Given the description of an element on the screen output the (x, y) to click on. 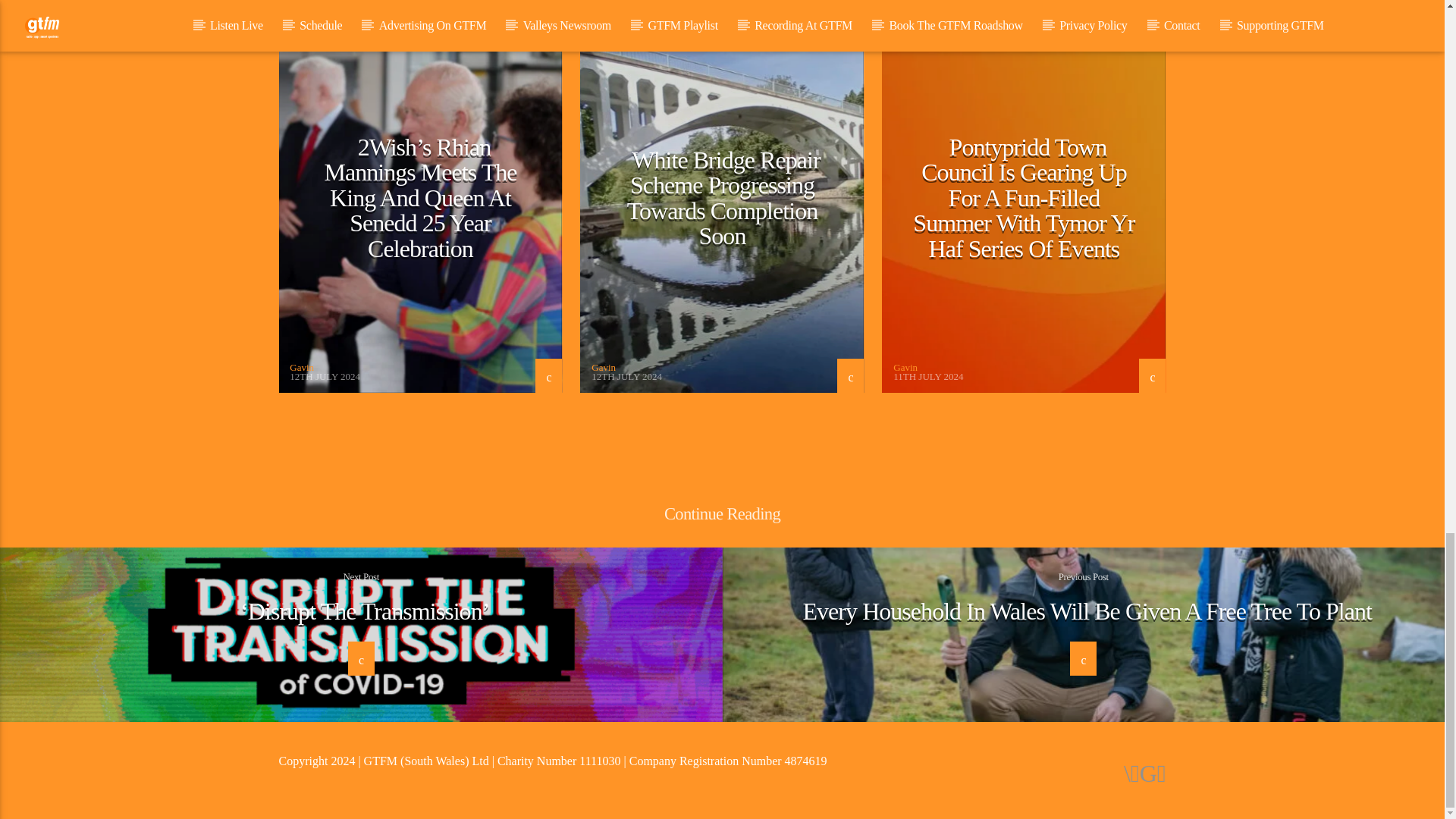
Posts by Gavin (301, 367)
Posts by Gavin (905, 367)
Posts by Gavin (603, 367)
